Given the description of an element on the screen output the (x, y) to click on. 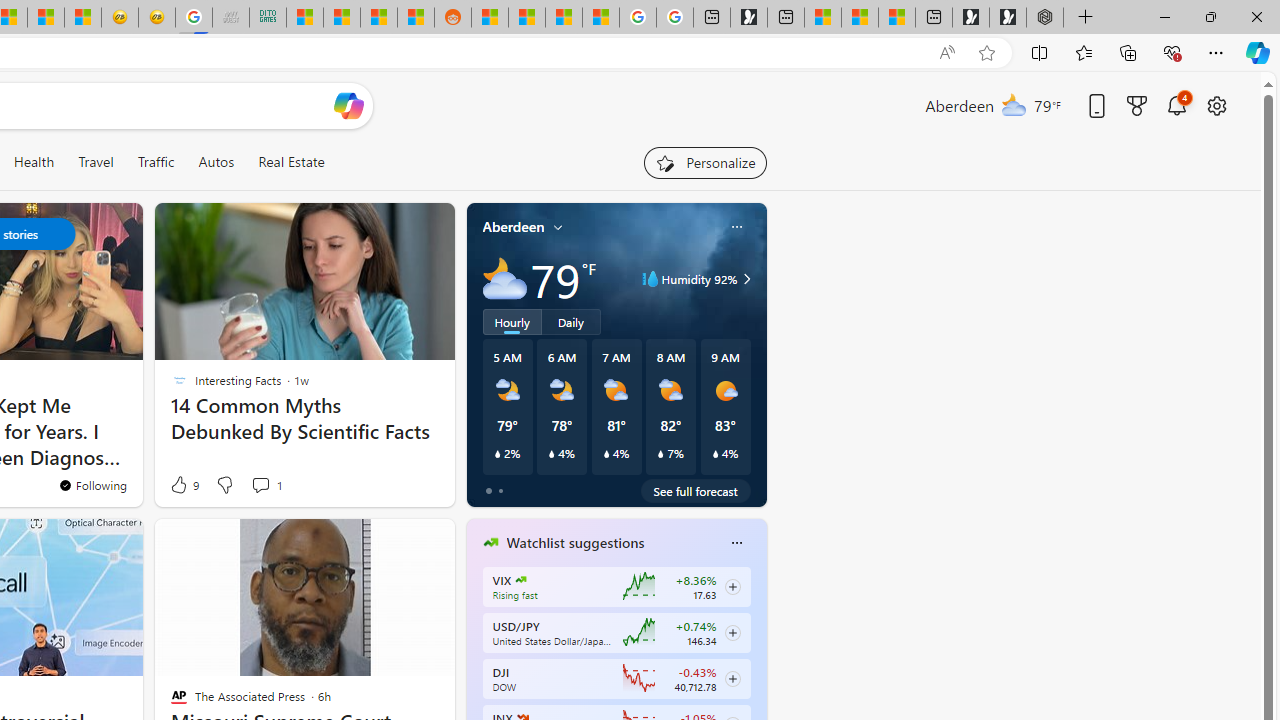
Class: follow-button  m (732, 678)
My location (558, 227)
Humidity 92% (744, 278)
Mostly cloudy (504, 278)
CBOE Market Volatility Index (520, 579)
Class: weather-current-precipitation-glyph (715, 453)
These 3 Stocks Pay You More Than 5% to Own Them (897, 17)
